Given the description of an element on the screen output the (x, y) to click on. 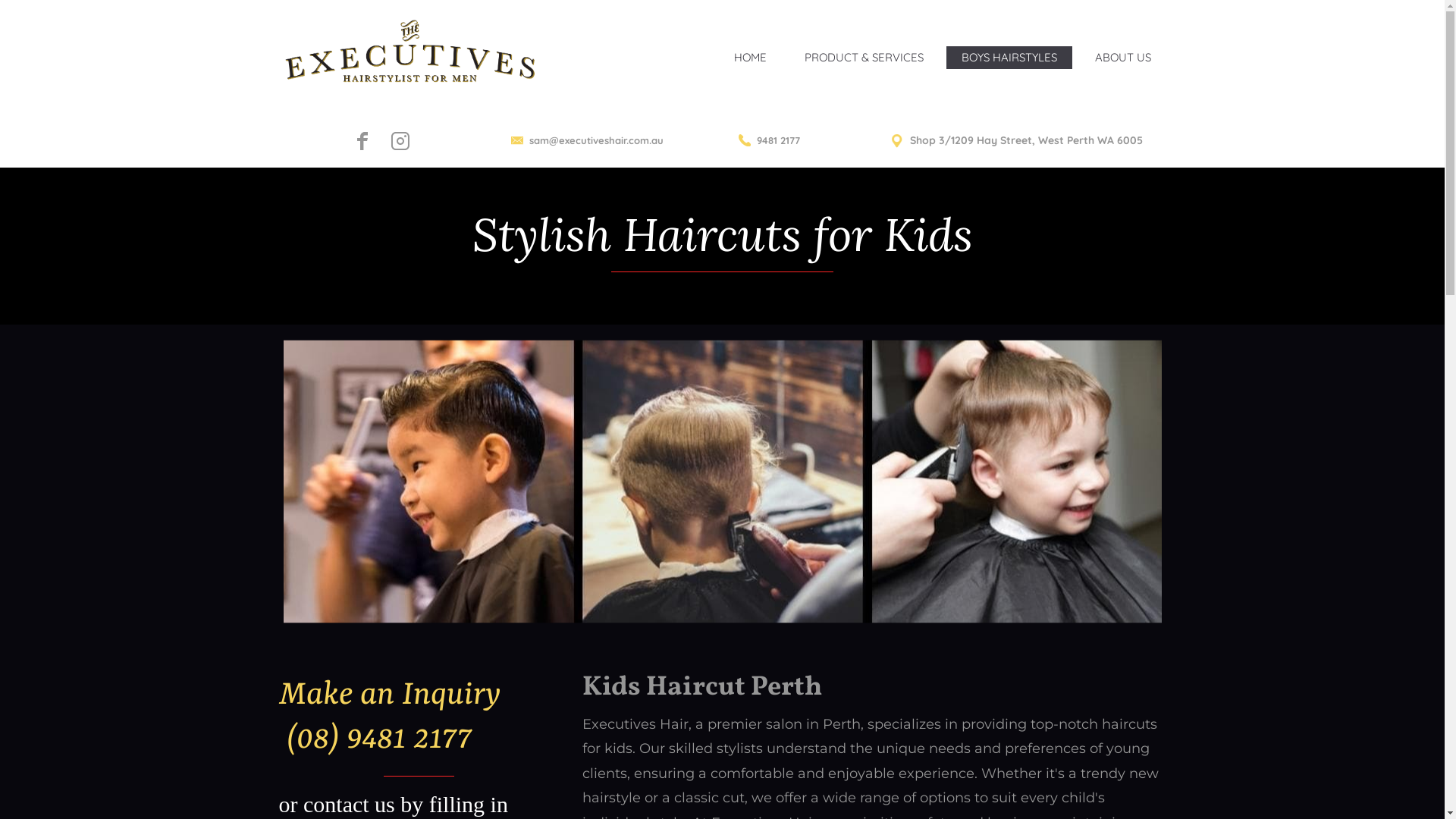
sam@executiveshair.com.au Element type: text (587, 139)
kids hairdresser perth Element type: hover (722, 480)
Shop 3/1209 Hay Street, West Perth WA 6005 Element type: text (1016, 140)
HOME Element type: text (749, 56)
ABOUT US Element type: text (1122, 56)
BOYS HAIRSTYLES Element type: text (1009, 56)
(08) 9481 2177 Element type: text (375, 740)
PRODUCT & SERVICES Element type: text (863, 56)
9481 2177 Element type: text (769, 139)
